Given the description of an element on the screen output the (x, y) to click on. 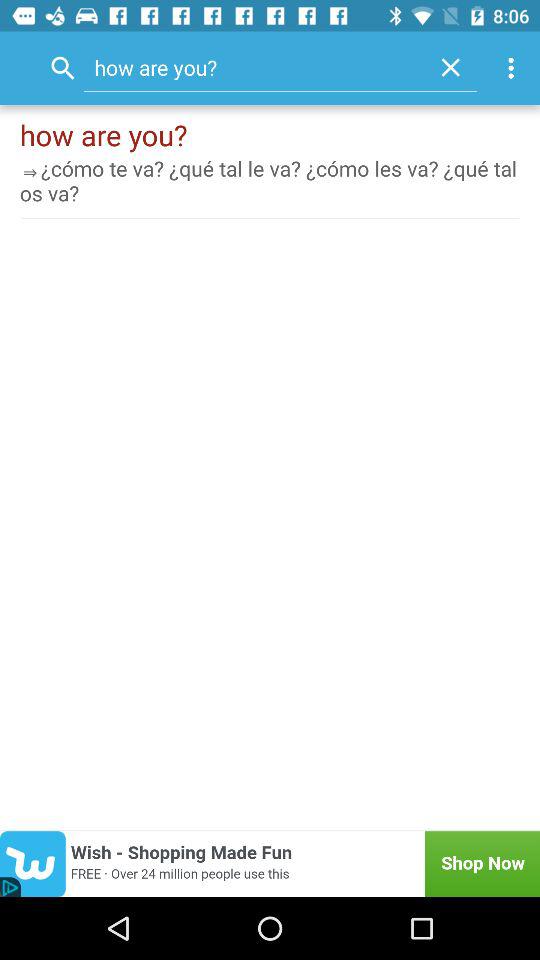
launch item above how are you? (513, 67)
